Given the description of an element on the screen output the (x, y) to click on. 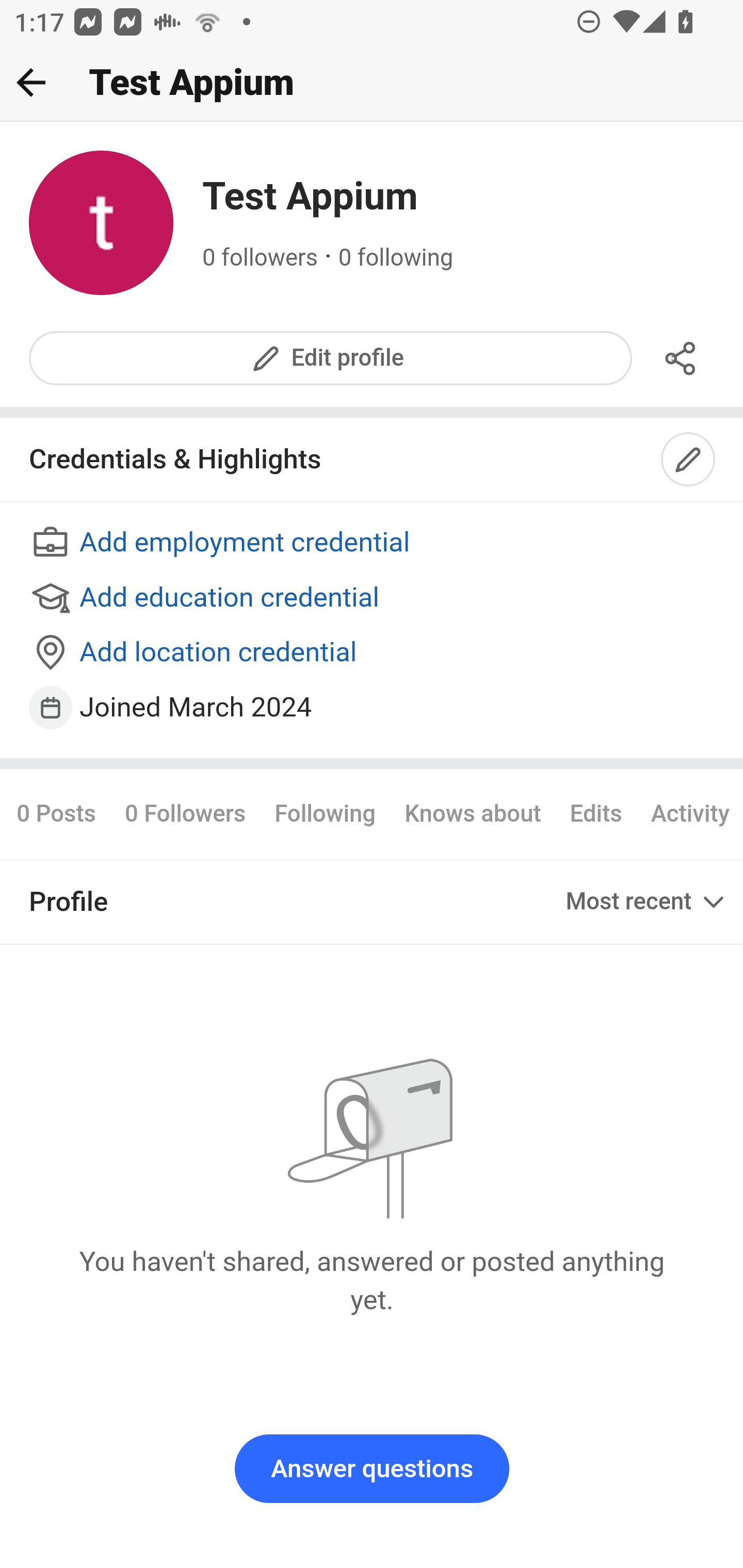
Me Home Search Add (371, 82)
Back (30, 82)
0 followers (260, 257)
0 following (395, 257)
Share (681, 358)
Edit profile (330, 357)
Edit credentials (688, 459)
Add employment credential (372, 543)
Add education credential (372, 598)
Add location credential (372, 653)
0 Posts (63, 813)
0 Followers (184, 813)
Following (325, 813)
Knows about (473, 813)
Edits (595, 813)
Activity (689, 813)
Most recent (647, 901)
Answer questions (371, 1469)
